Given the description of an element on the screen output the (x, y) to click on. 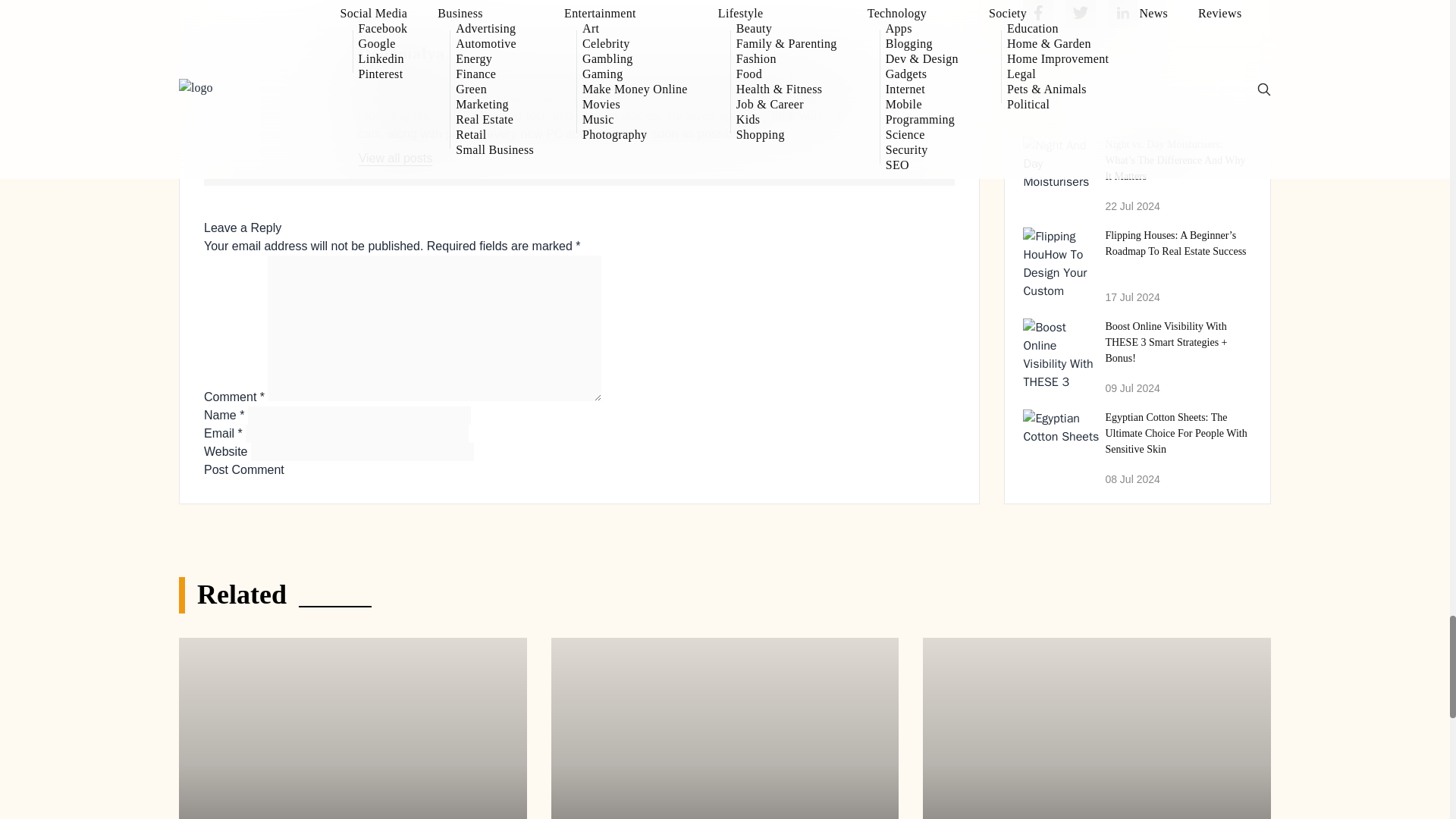
Post Comment (243, 470)
